Given the description of an element on the screen output the (x, y) to click on. 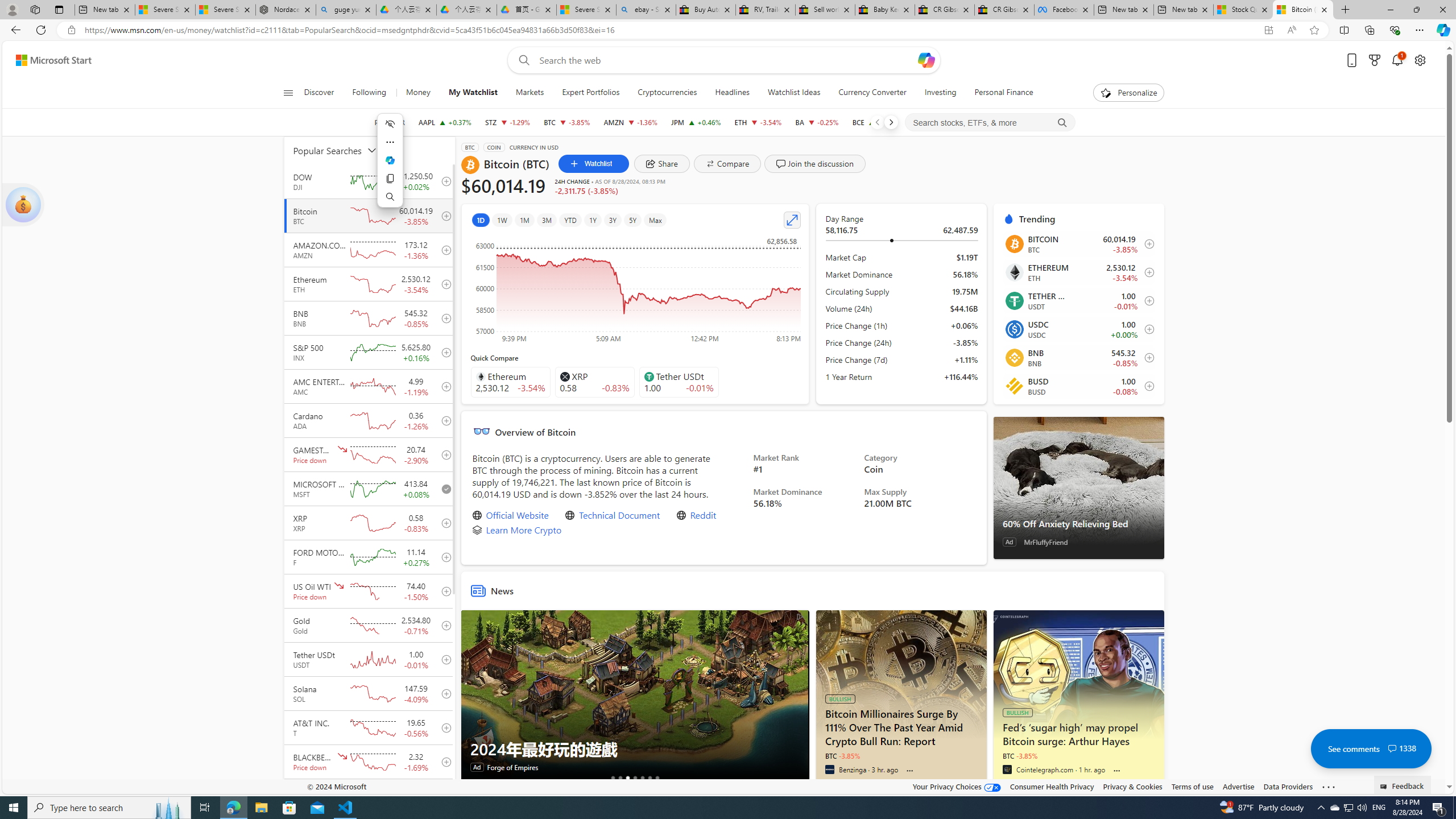
Class: feedback_link_icon-DS-EntryPoint1-1 (1384, 786)
Class: button-glyph (287, 92)
Mini menu on text selection (390, 160)
Tether USDt (1013, 300)
ebay - Search (646, 9)
1Y (592, 219)
Expert Portfolios (591, 92)
Class: cwt-icon-vector (1391, 748)
Currency Converter (872, 92)
BUSD (1013, 385)
Notifications (1397, 60)
Ethereum (1013, 272)
